Given the description of an element on the screen output the (x, y) to click on. 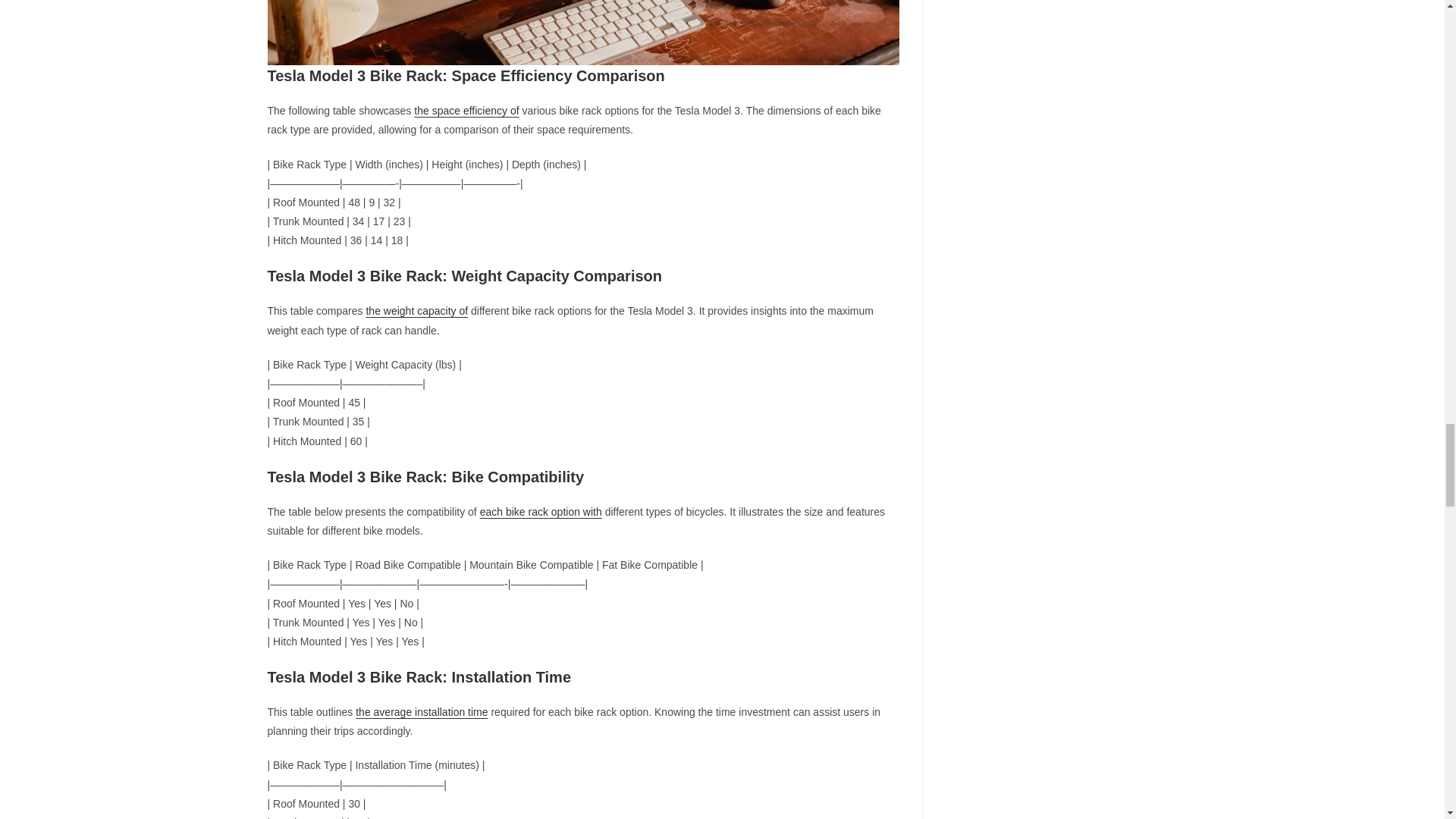
each bike rack option with (541, 511)
the weight capacity of (416, 310)
Tesla Model 3 Bike Rack (582, 33)
the space efficiency of (465, 110)
the average installation time (421, 711)
